Given the description of an element on the screen output the (x, y) to click on. 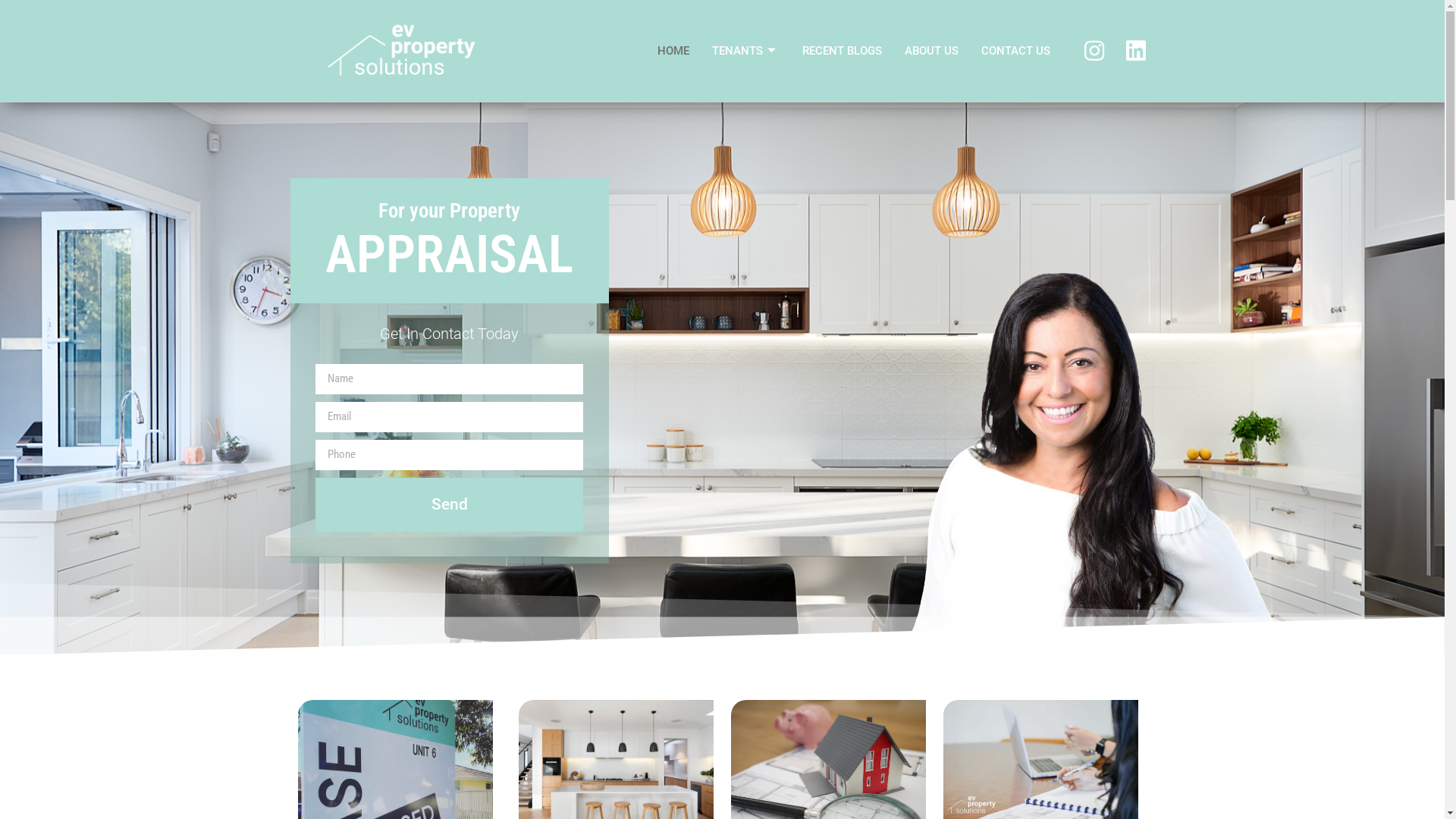
RECENT BLOGS Element type: text (841, 50)
CONTACT US Element type: text (1015, 50)
ABOUT US Element type: text (931, 50)
HOME Element type: text (673, 50)
TENANTS Element type: text (745, 50)
Send Element type: text (449, 504)
